Given the description of an element on the screen output the (x, y) to click on. 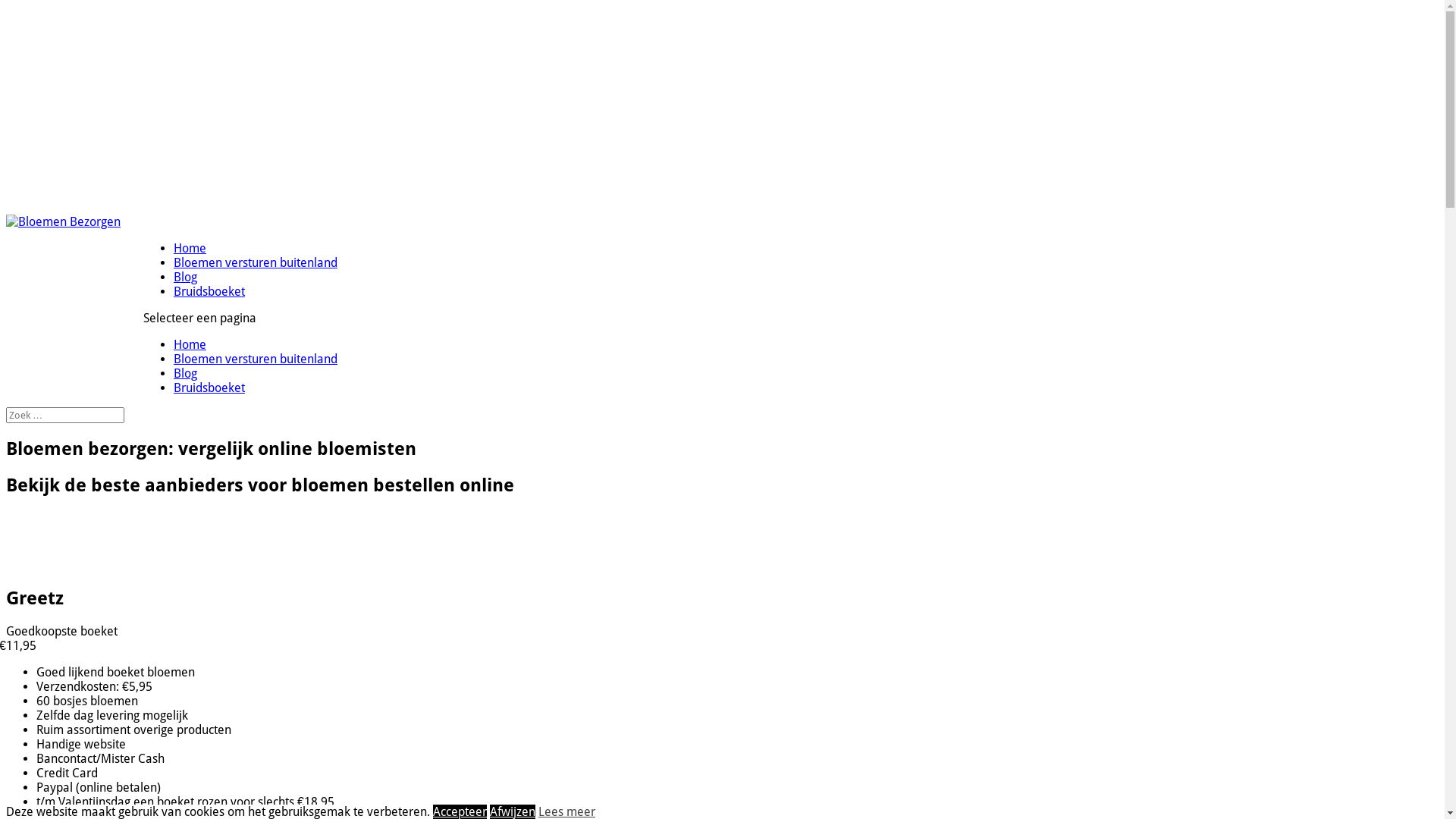
Bruidsboeket Element type: text (208, 291)
Blog Element type: text (185, 276)
Blog Element type: text (185, 373)
Zoek naar: Element type: hover (65, 415)
Bloemen versturen buitenland Element type: text (255, 262)
Bruidsboeket Element type: text (208, 387)
Home Element type: text (189, 248)
Home Element type: text (189, 344)
Bloemen versturen buitenland Element type: text (255, 358)
